Given the description of an element on the screen output the (x, y) to click on. 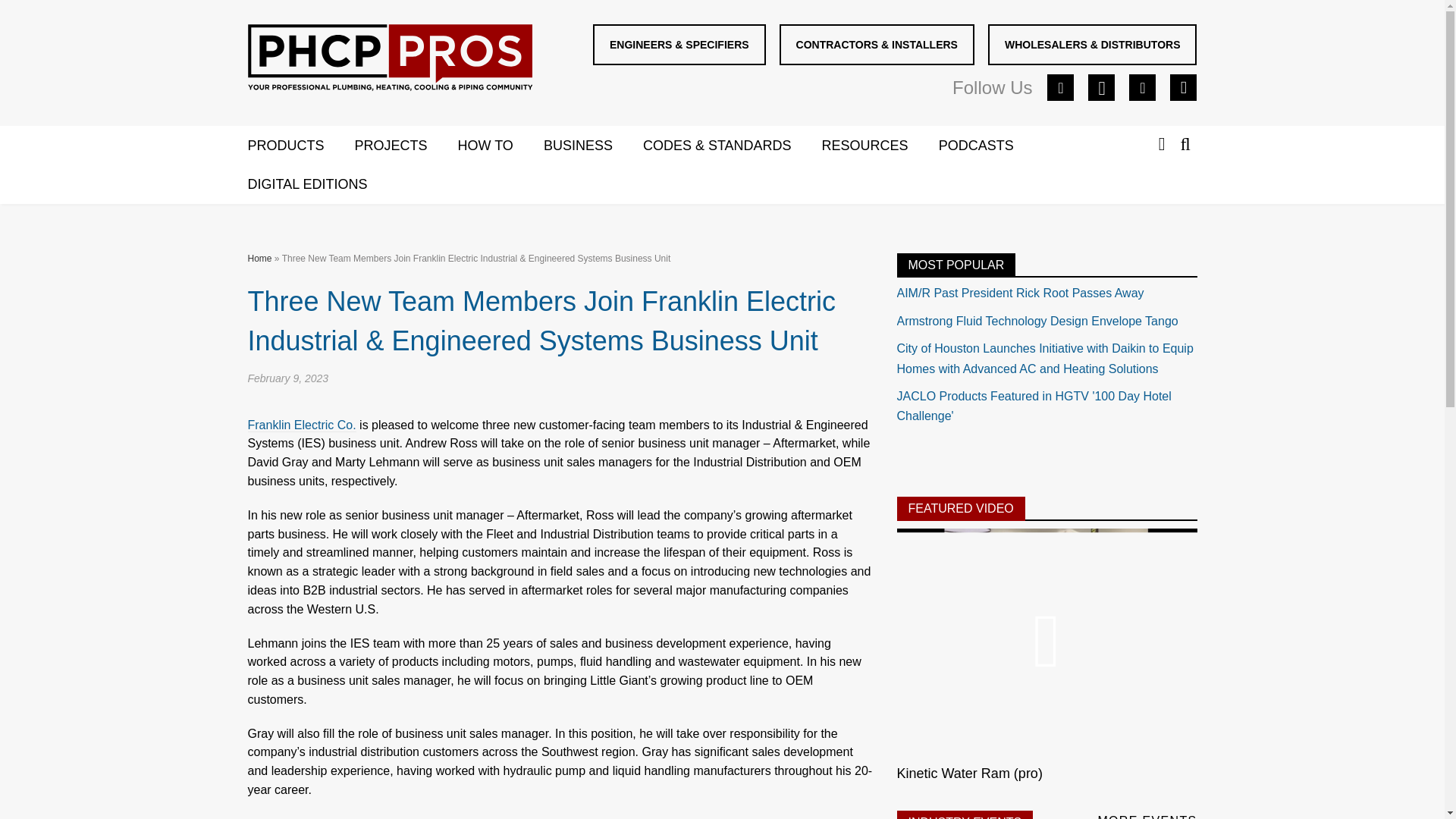
logo (389, 57)
HOW TO (500, 146)
BUSINESS (593, 146)
PRODUCTS (300, 146)
logo (389, 60)
PROJECTS (406, 146)
